Given the description of an element on the screen output the (x, y) to click on. 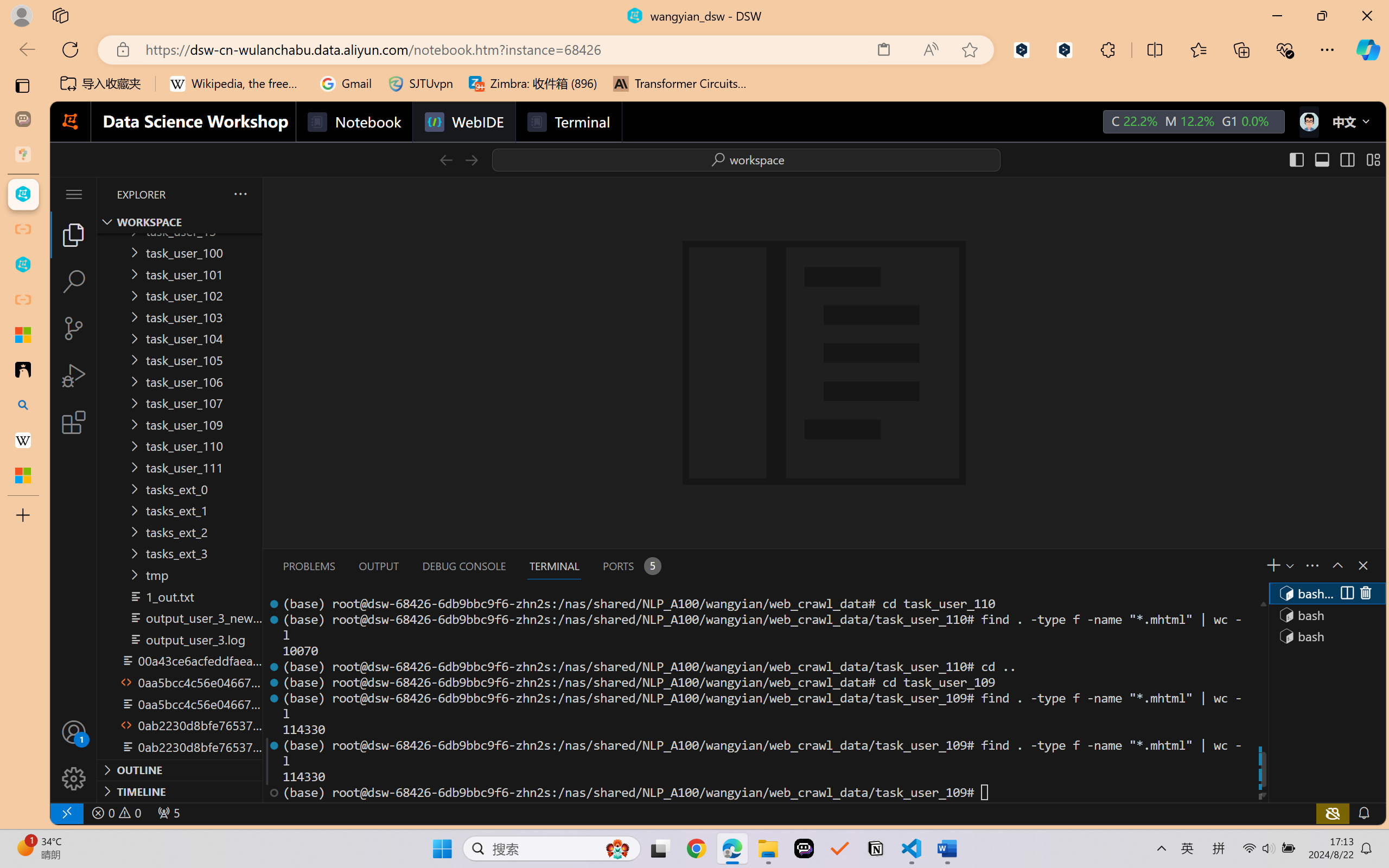
Output (Ctrl+Shift+U) (377, 565)
Extensions (Ctrl+Shift+X) (73, 422)
Earth - Wikipedia (22, 440)
Toggle Secondary Side Bar (Ctrl+Alt+B) (1347, 159)
Gmail (345, 83)
Application Menu (73, 194)
Go Forward (Alt+RightArrow) (470, 159)
